Given the description of an element on the screen output the (x, y) to click on. 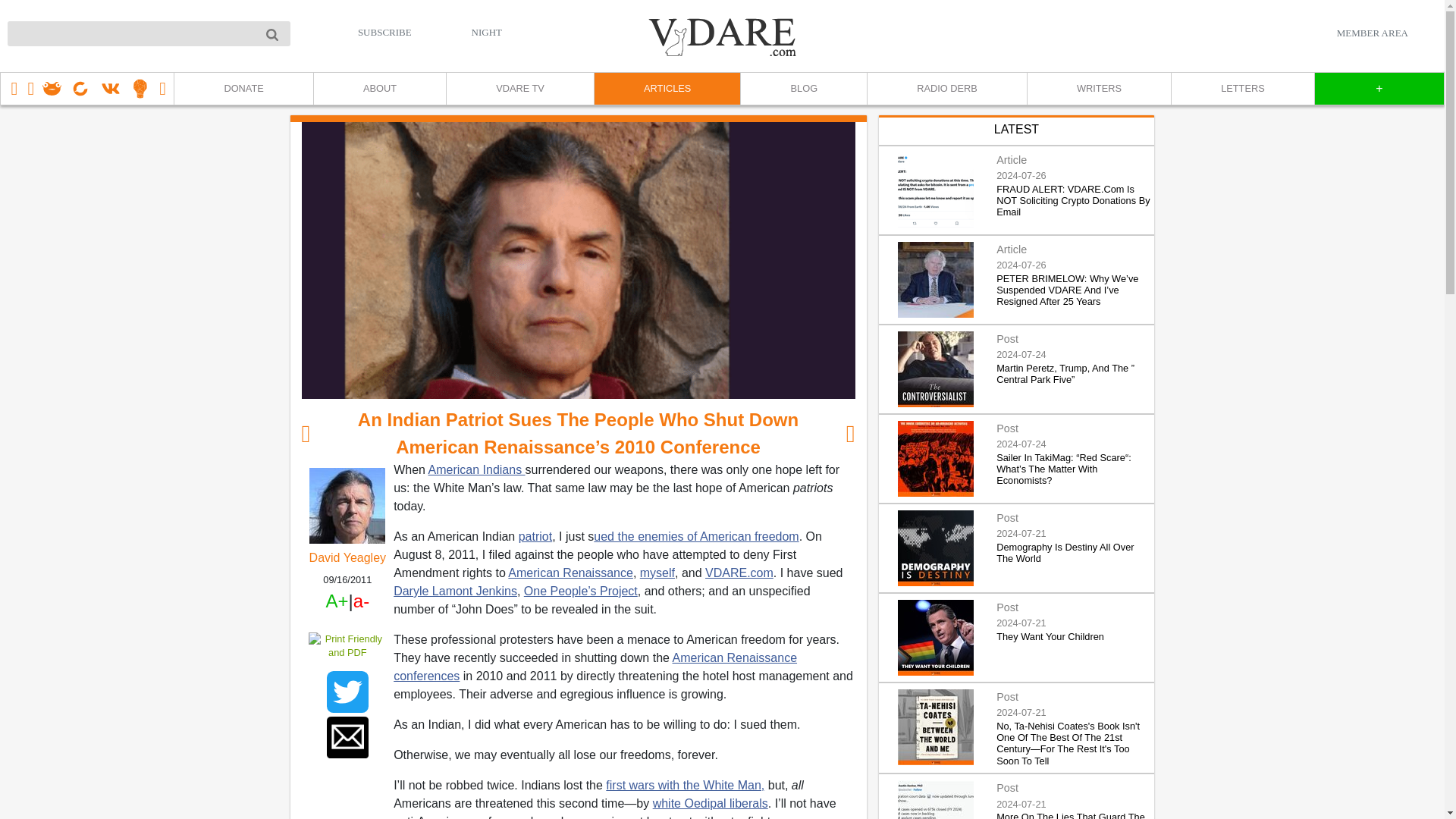
Share to Twitter (347, 691)
SUBSCRIBE (385, 31)
ABOUT (379, 88)
BLOG (802, 88)
RADIO DERB (946, 88)
DONATE (243, 88)
WRITERS (1098, 88)
ARTICLES (666, 88)
Printer Friendly and PDF (347, 644)
LETTERS (1242, 88)
MEMBER AREA (1371, 32)
Share to Email (347, 737)
VDARE TV (519, 88)
